Given the description of an element on the screen output the (x, y) to click on. 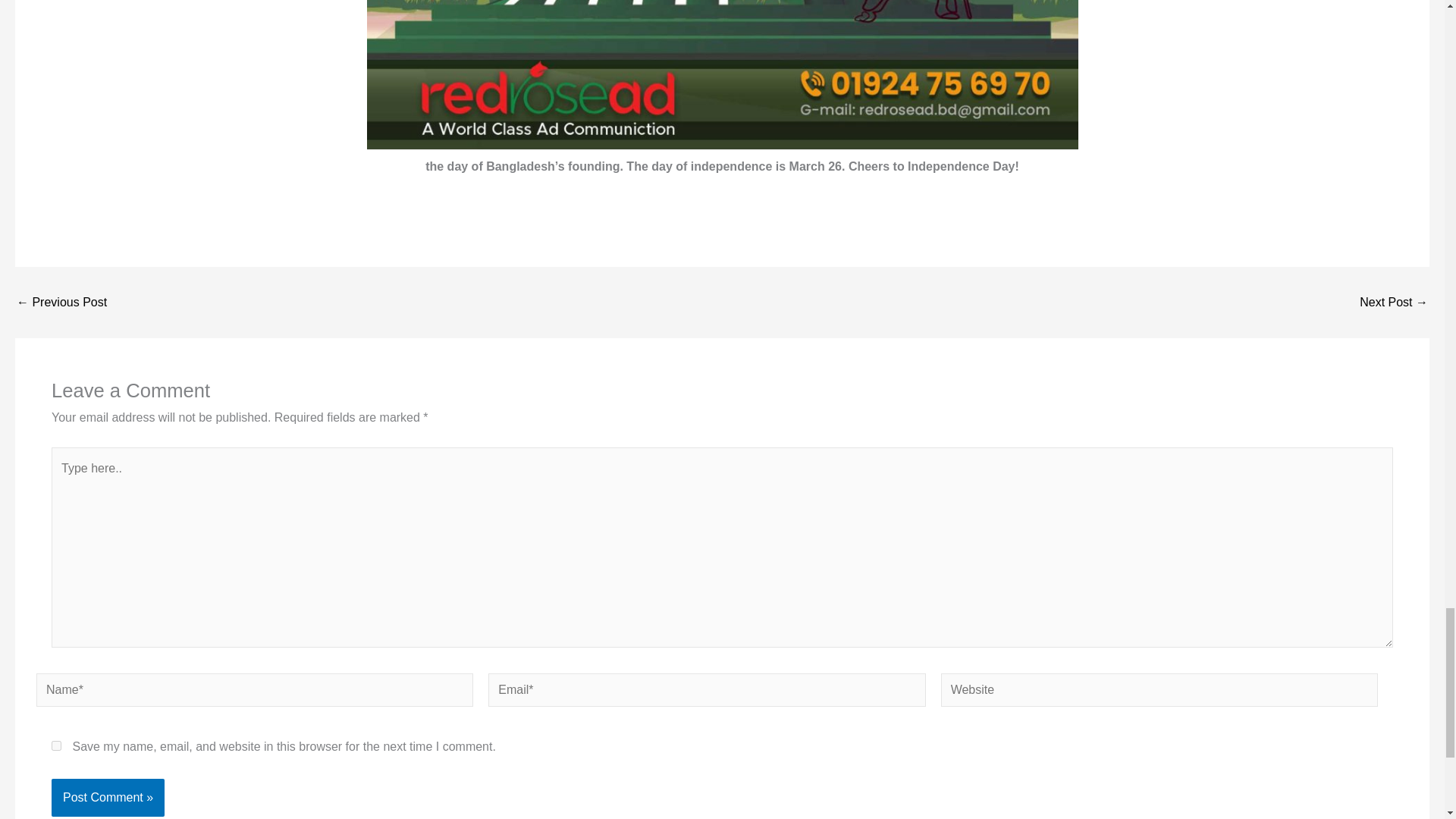
yes (55, 746)
Best Acrylic letter indoor signage in Bangladesh (1393, 302)
Welcome Enterprise ss bata model Led Letter Signage in BD (61, 302)
